Given the description of an element on the screen output the (x, y) to click on. 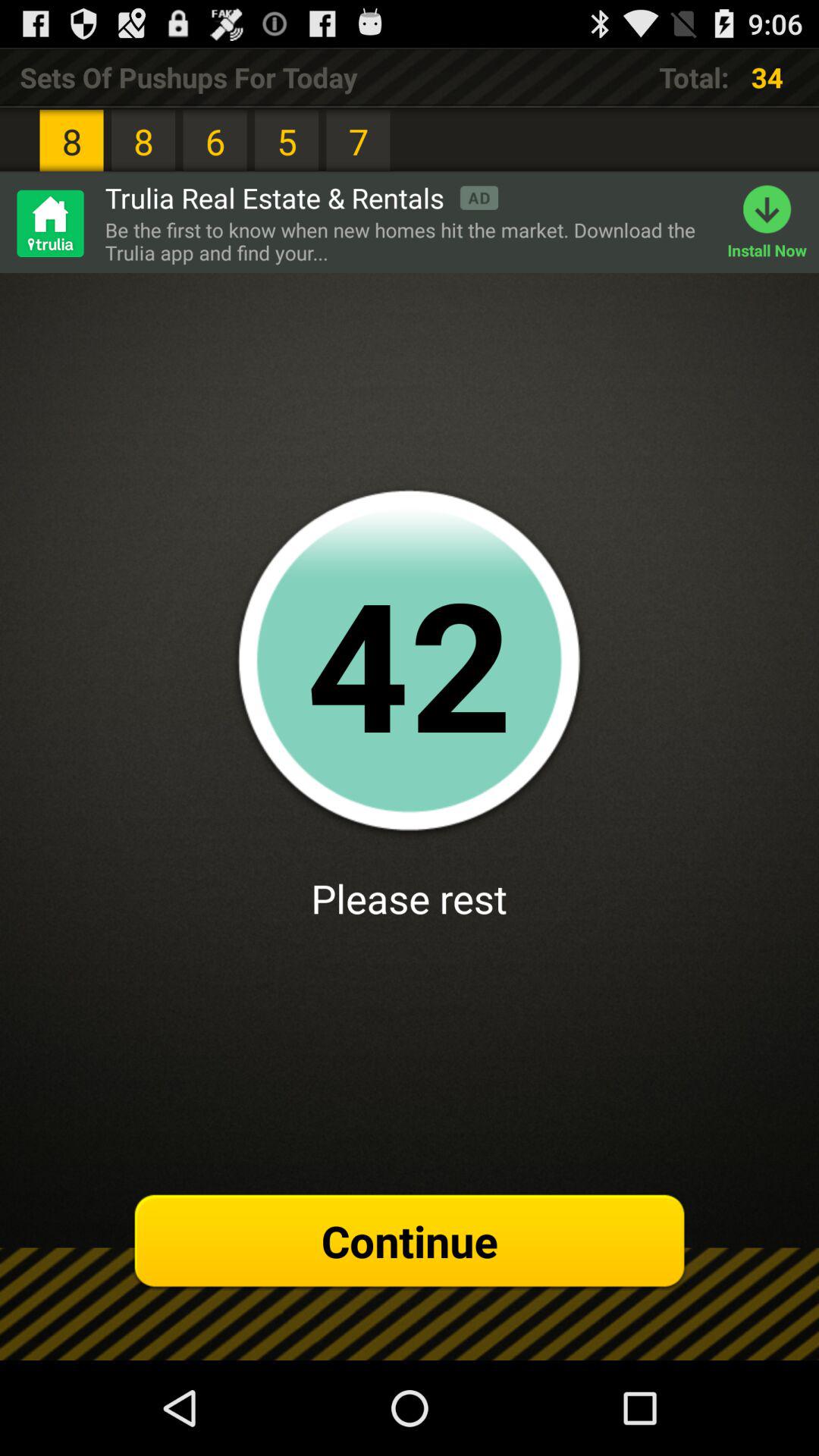
launch install now icon (773, 223)
